Given the description of an element on the screen output the (x, y) to click on. 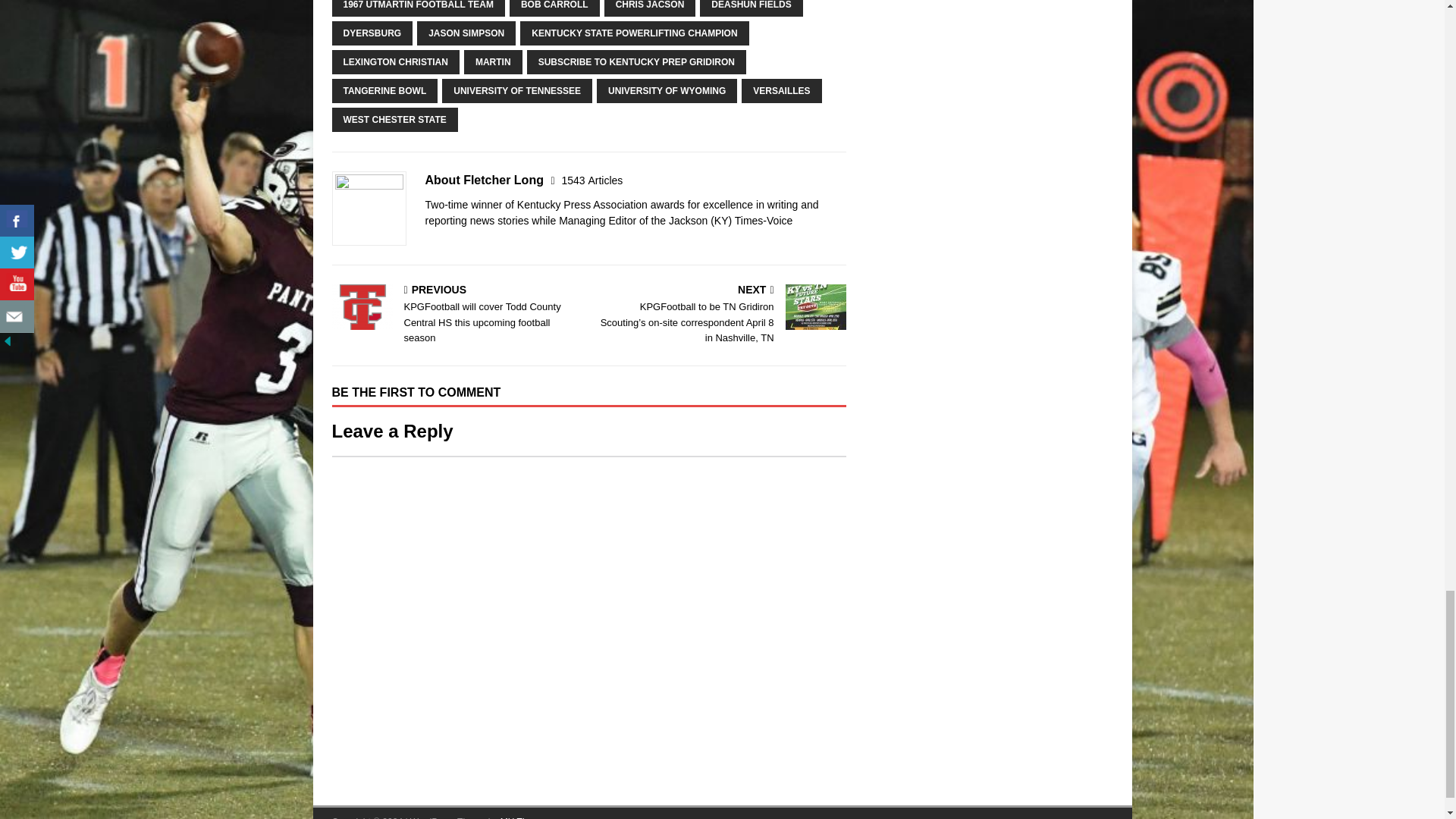
More articles written by Fletcher Long' (591, 180)
TANGERINE BOWL (384, 90)
DEASHUN FIELDS (751, 8)
LEXINGTON CHRISTIAN (395, 61)
BOB CARROLL (554, 8)
SUBSCRIBE TO KENTUCKY PREP GRIDIRON (636, 61)
1967 UTMARTIN FOOTBALL TEAM (418, 8)
CHRIS JACSON (649, 8)
UNIVERSITY OF WYOMING (666, 90)
UNIVERSITY OF TENNESSEE (517, 90)
MARTIN (493, 61)
JASON SIMPSON (465, 33)
KENTUCKY STATE POWERLIFTING CHAMPION (633, 33)
DYERSBURG (372, 33)
